Given the description of an element on the screen output the (x, y) to click on. 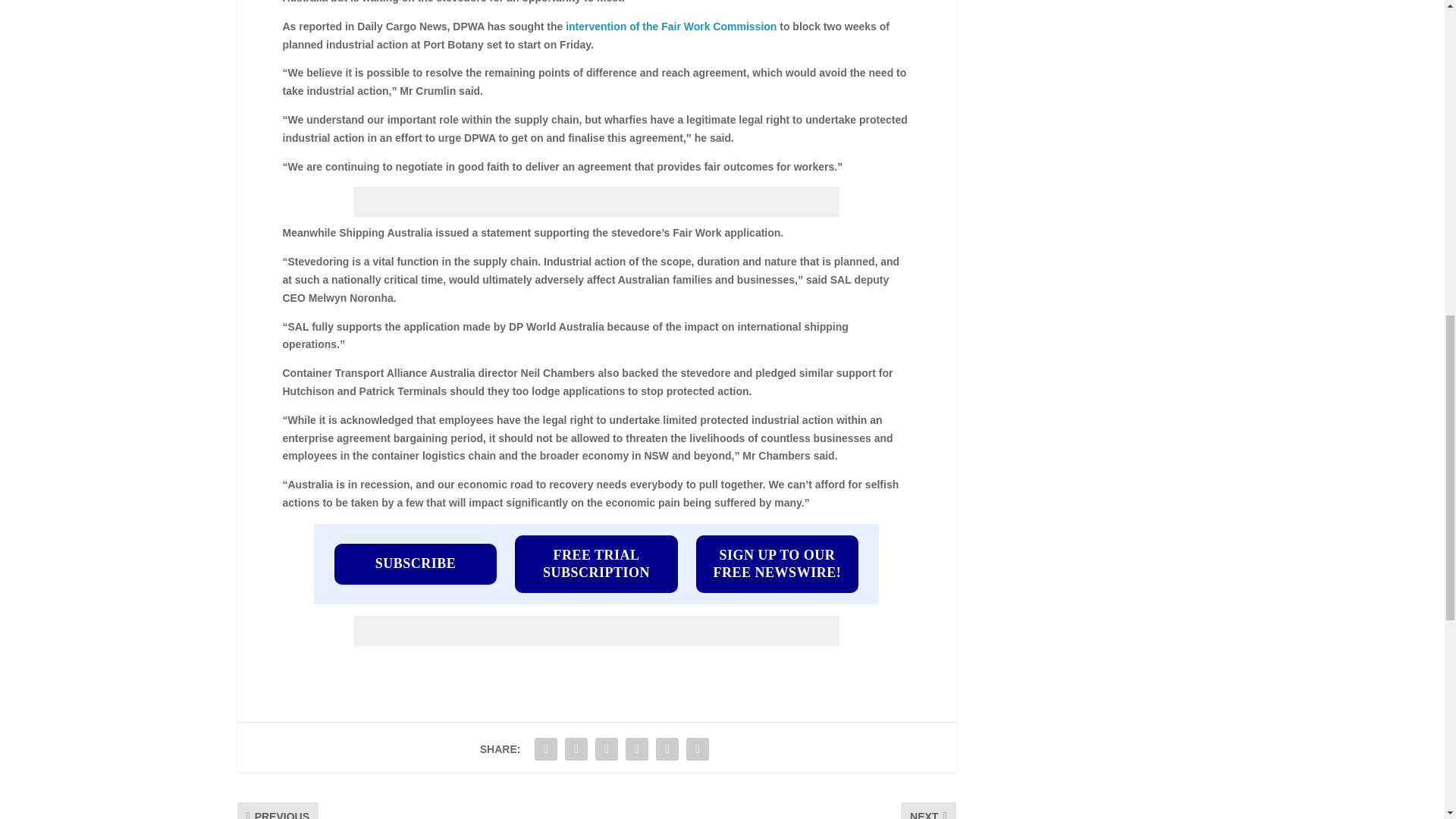
Share "Union willing to negotiate, says Crumlin" via Print (697, 748)
intervention of the Fair Work Commission (671, 26)
Share "Union willing to negotiate, says Crumlin" via Email (667, 748)
Share "Union willing to negotiate, says Crumlin" via Twitter (575, 748)
